Given the description of an element on the screen output the (x, y) to click on. 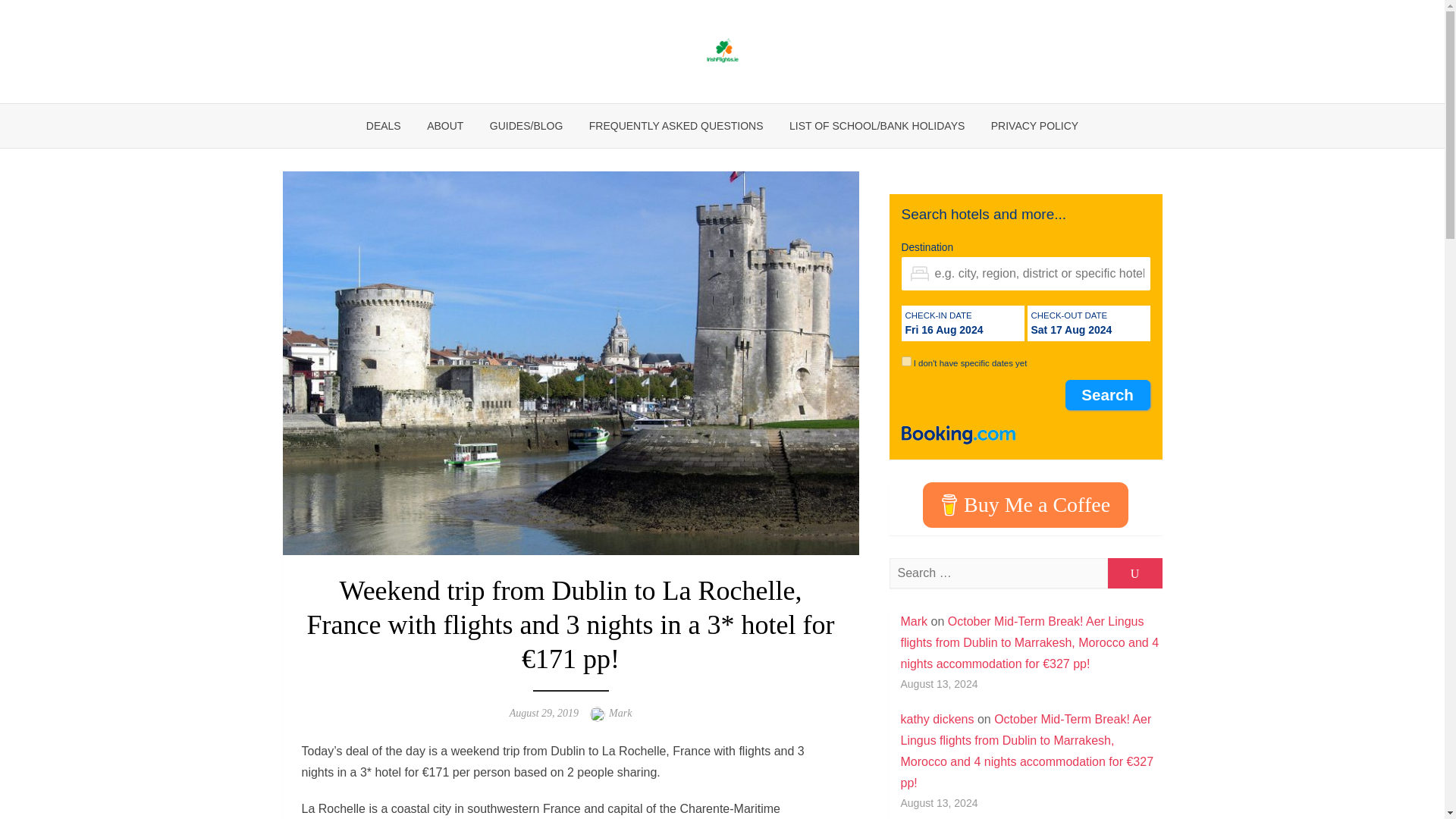
Mark (914, 621)
ABOUT (444, 125)
Search (1107, 395)
Search (1107, 395)
FREQUENTLY ASKED QUESTIONS (676, 125)
Buy Me a Coffee (1025, 504)
DEALS (383, 125)
on (906, 361)
e.g. city, region, district or specific hotel (1025, 273)
PRIVACY POLICY (1034, 125)
